Given the description of an element on the screen output the (x, y) to click on. 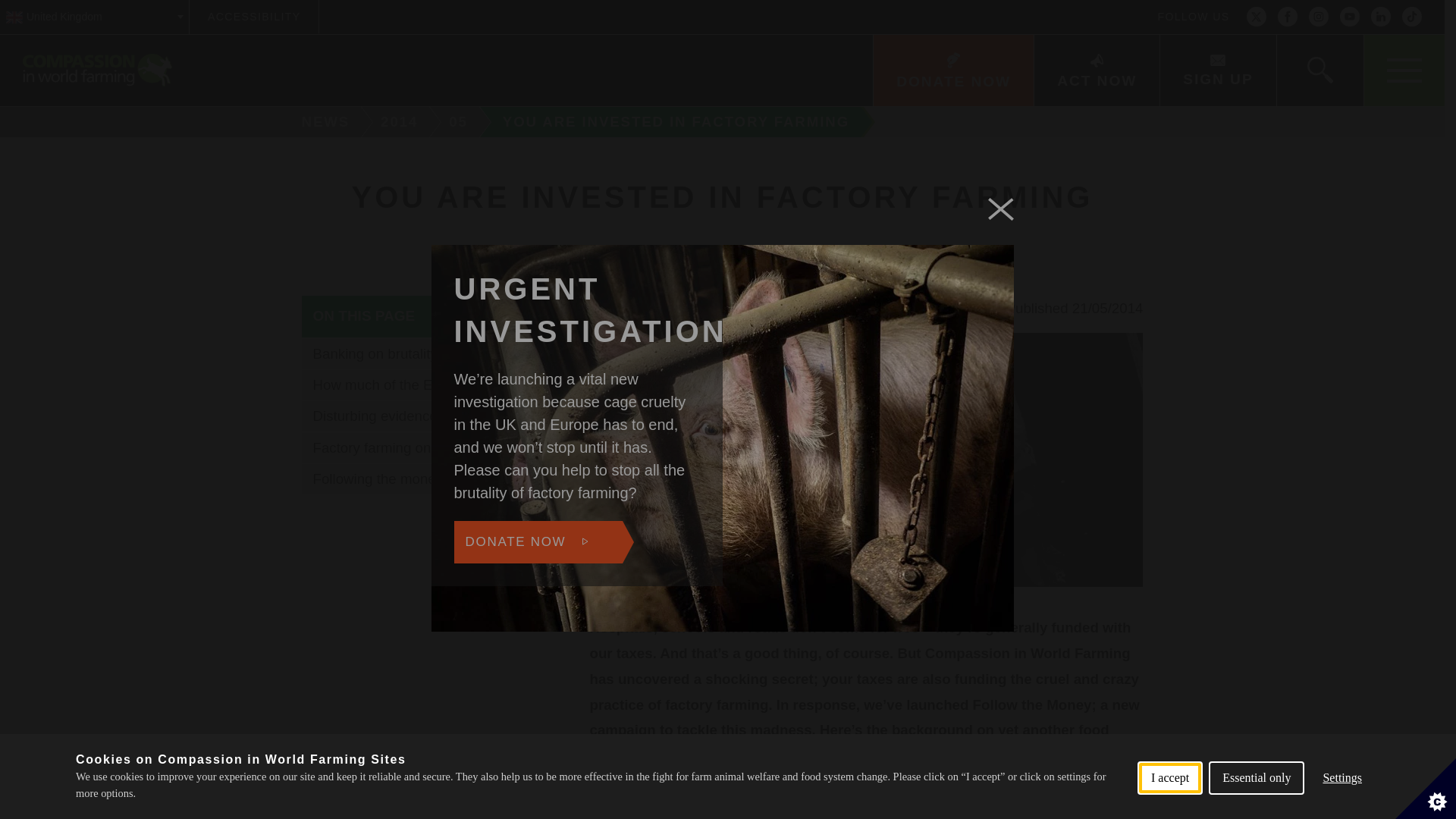
SIGN UP (1216, 70)
Facebook (1287, 16)
Twitter (1255, 16)
Skip to Content (778, 1)
LinkedIn (1380, 16)
NEWS (320, 122)
DONATE NOW (952, 70)
Settings (1342, 802)
YouTube (1350, 16)
I accept (1169, 811)
2014 (401, 122)
ACCESSIBILITY (253, 16)
05 (460, 122)
TikTok (1412, 16)
Instagram (1318, 16)
